Given the description of an element on the screen output the (x, y) to click on. 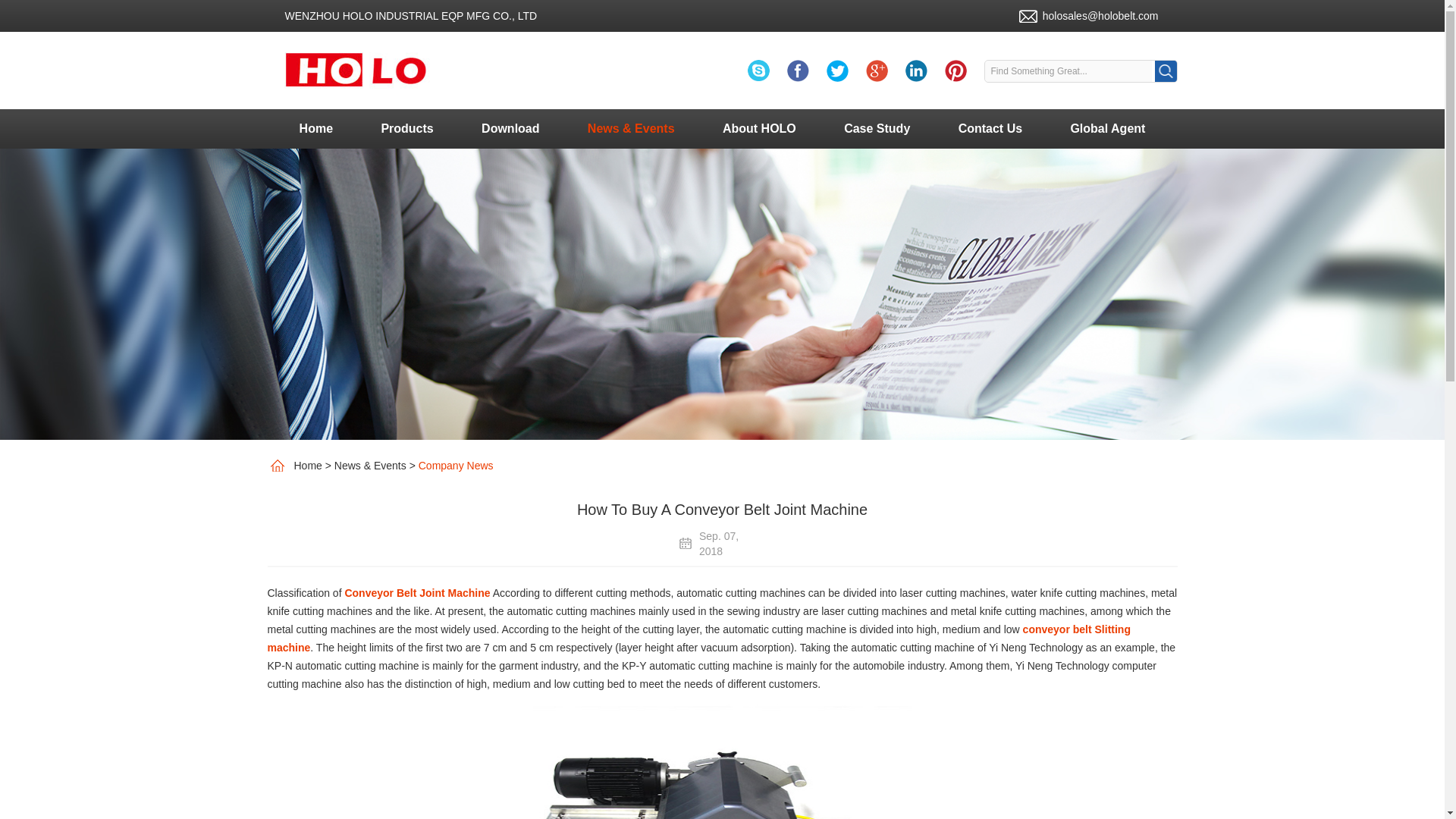
Products (406, 128)
Conveyor Belt Joint Machine (416, 592)
conveyor belt Slitting machine (697, 638)
Find Something Great... (1067, 70)
Conveyor Belt Joint Machine (721, 755)
